Given the description of an element on the screen output the (x, y) to click on. 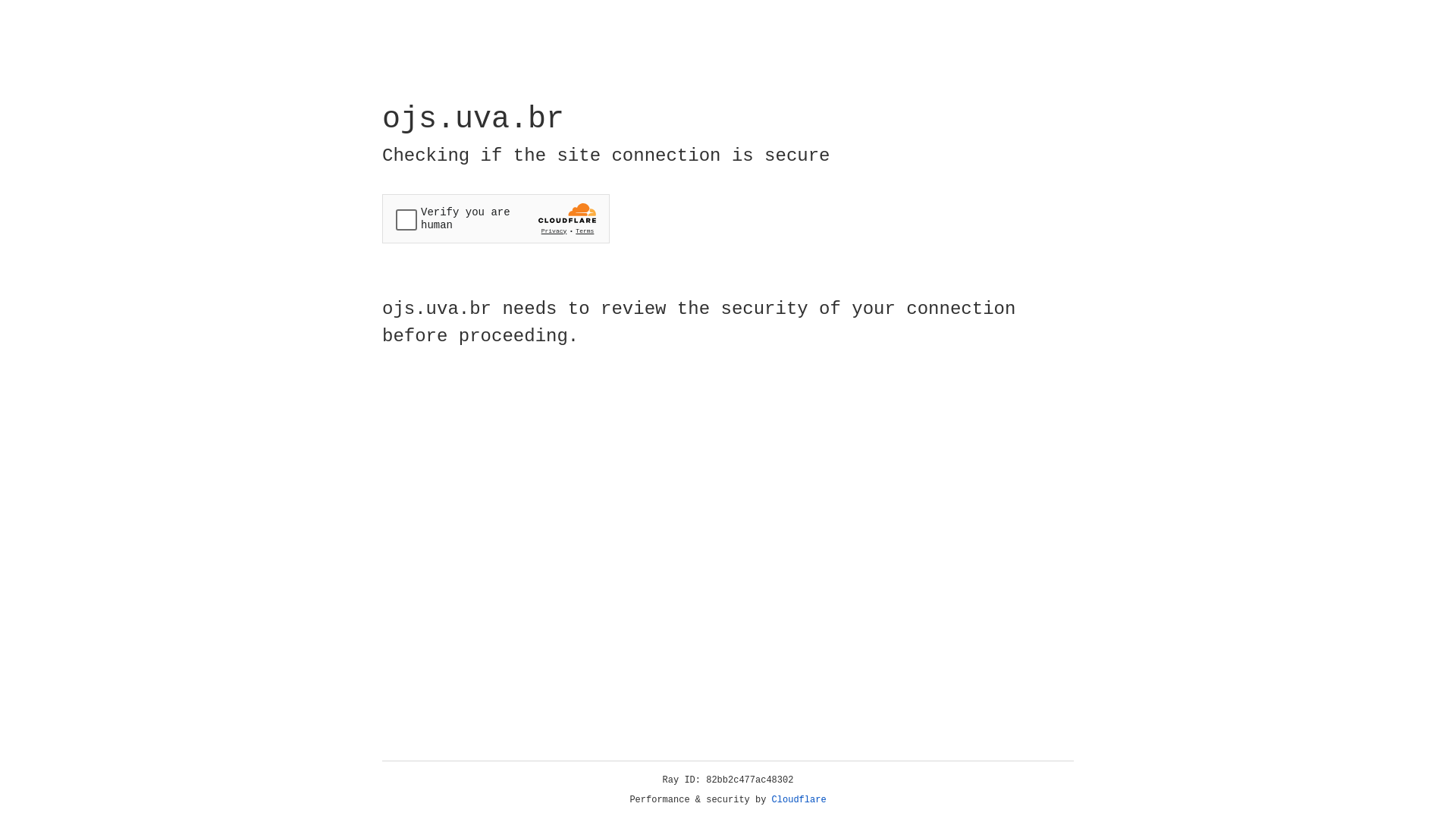
Cloudflare Element type: text (798, 799)
Widget containing a Cloudflare security challenge Element type: hover (495, 218)
